Given the description of an element on the screen output the (x, y) to click on. 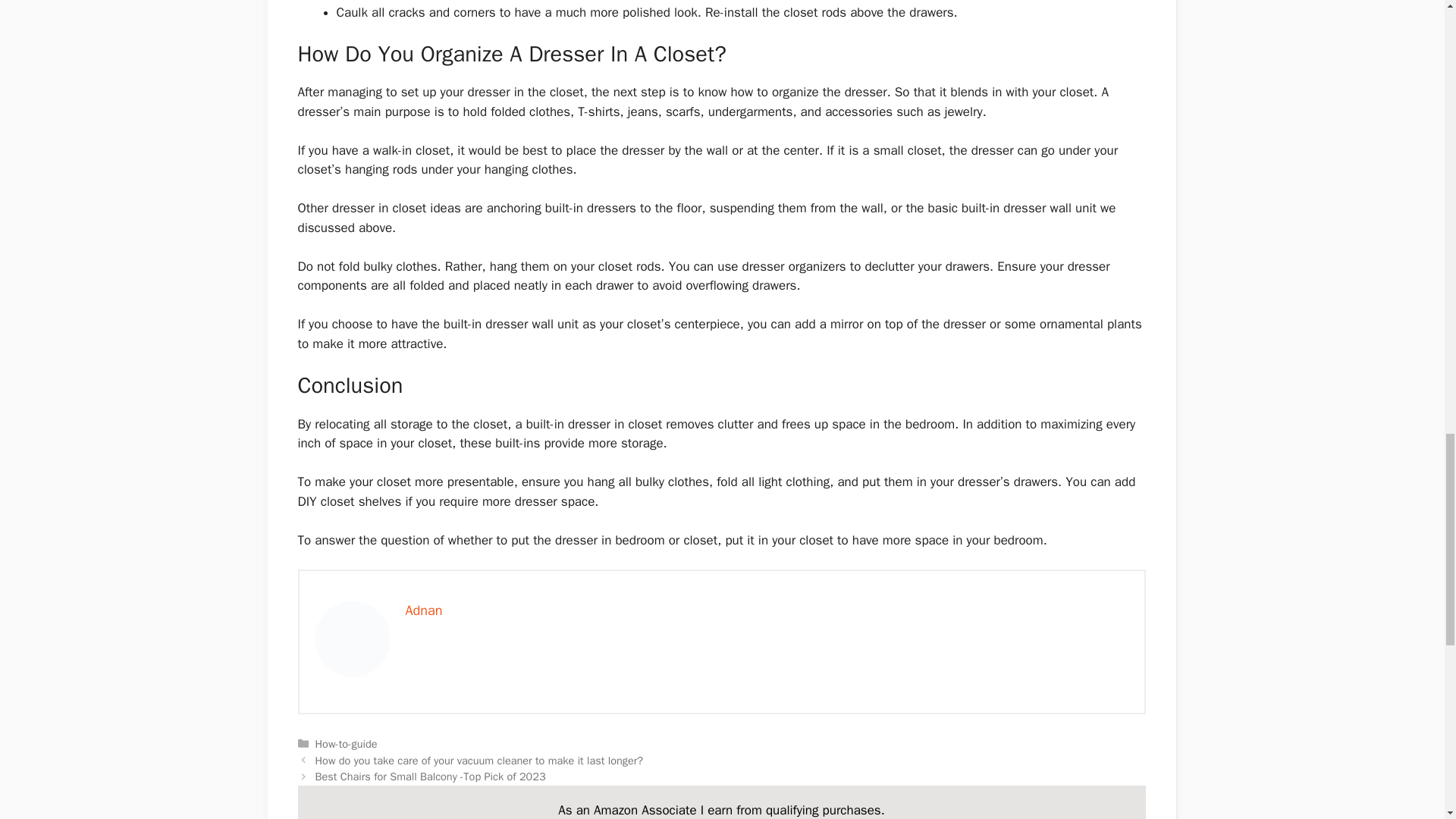
Adnan (423, 610)
Best Chairs for Small Balcony -Top Pick of 2023 (430, 775)
Next (430, 775)
How-to-guide (346, 744)
Previous (479, 760)
